Given the description of an element on the screen output the (x, y) to click on. 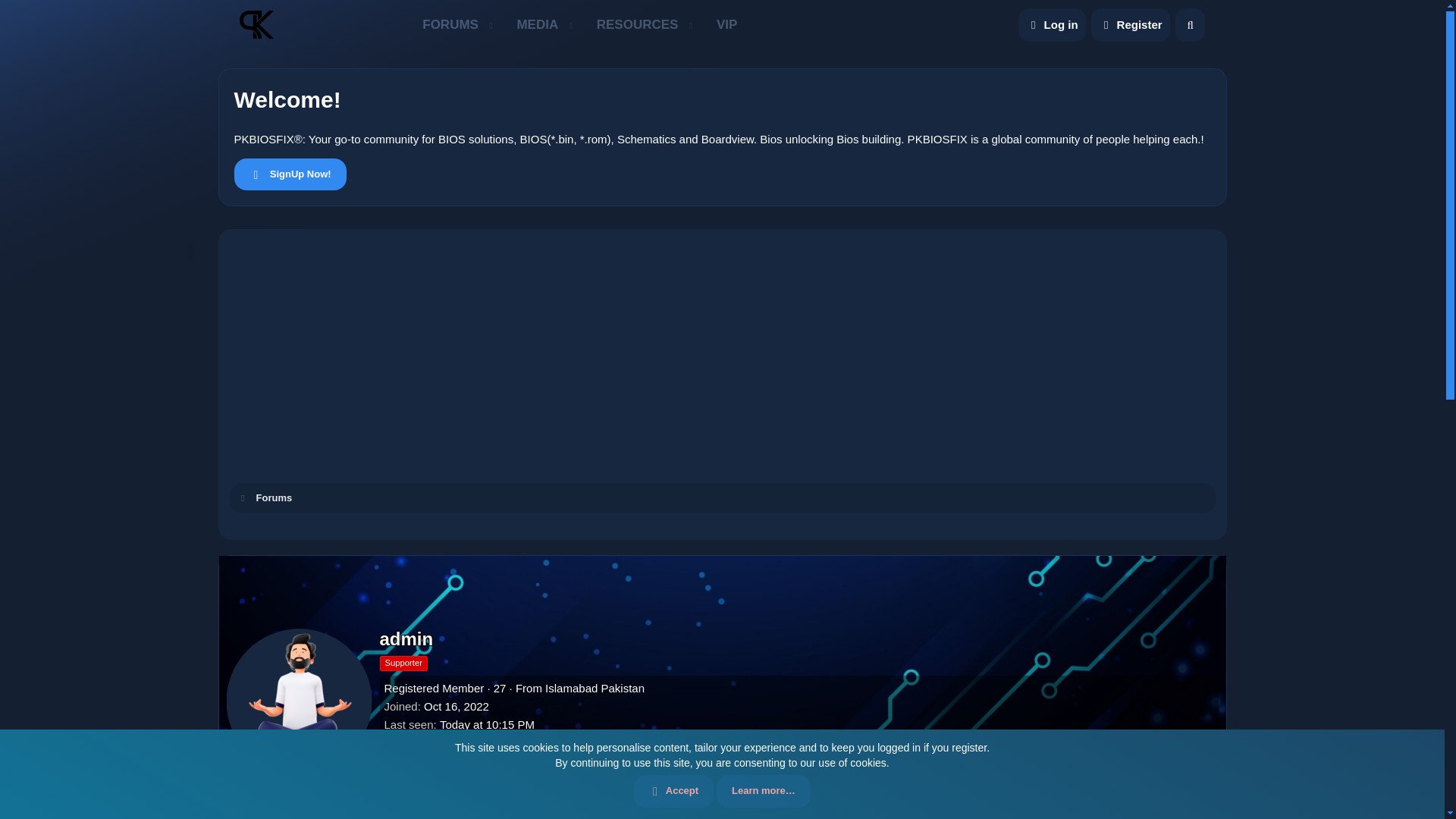
FORUMS (443, 24)
83 (1203, 775)
136 (787, 775)
Register (1129, 24)
VIP (726, 24)
Aug 1, 2024 at 10:15 PM (486, 724)
Islamabad Pakistan (594, 687)
Find (409, 810)
Forums (579, 24)
